Given the description of an element on the screen output the (x, y) to click on. 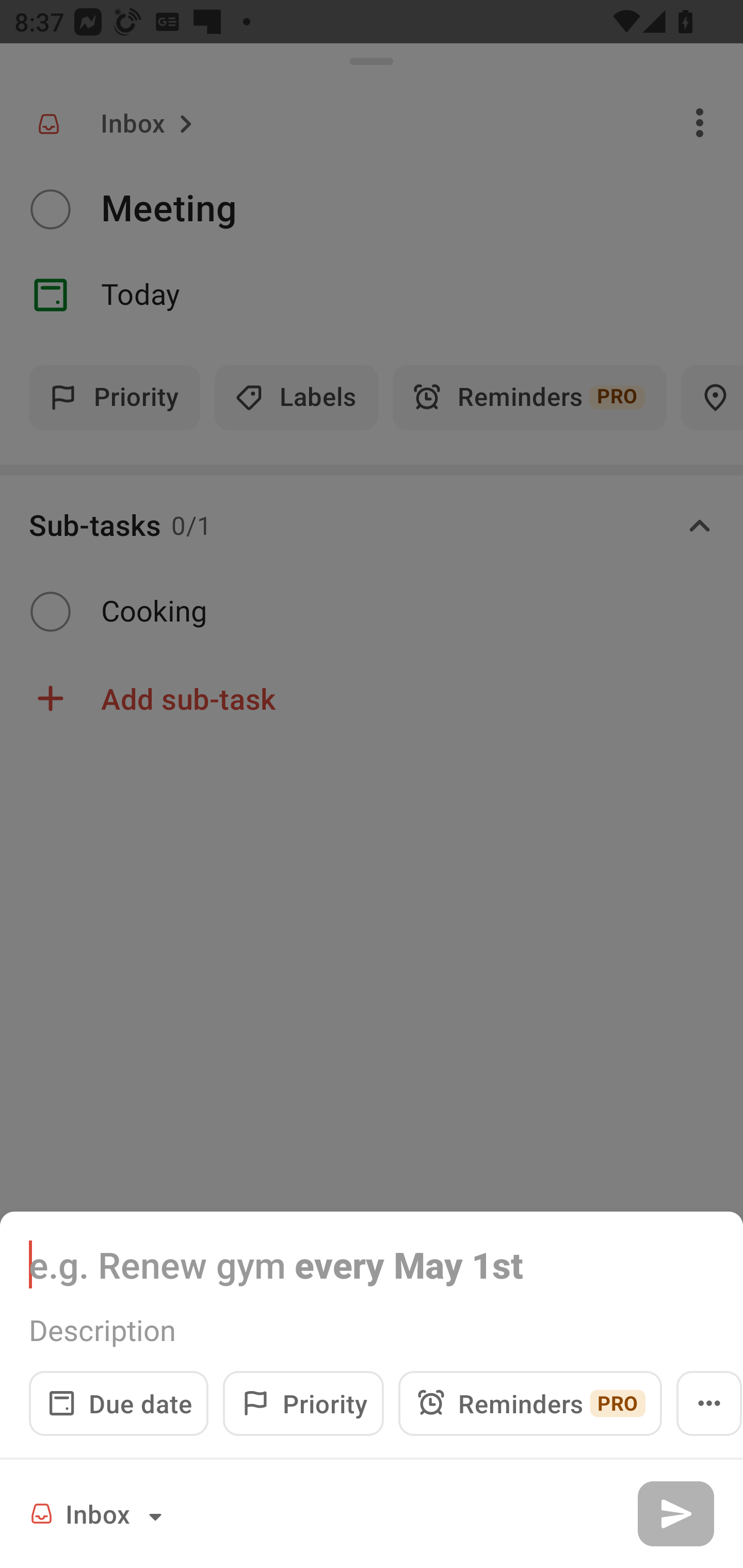
e.g. Renew gym every May 1st (371, 1264)
Description (371, 1330)
Due date Date (118, 1403)
Priority (303, 1403)
Reminders PRO Reminders (530, 1403)
Open menu (709, 1403)
Inbox Project (99, 1513)
Add (675, 1513)
